Given the description of an element on the screen output the (x, y) to click on. 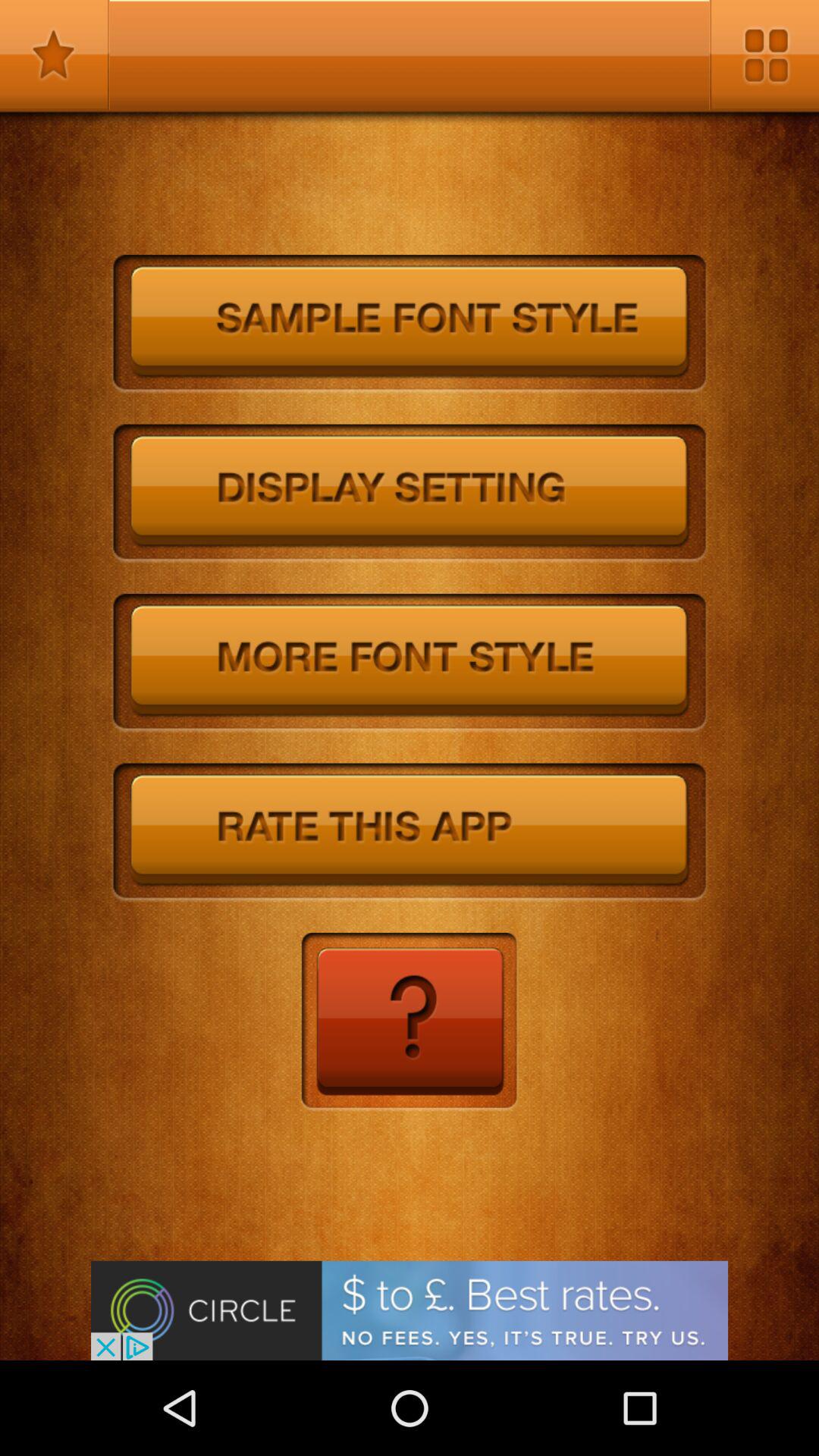
open for more options (764, 54)
